Given the description of an element on the screen output the (x, y) to click on. 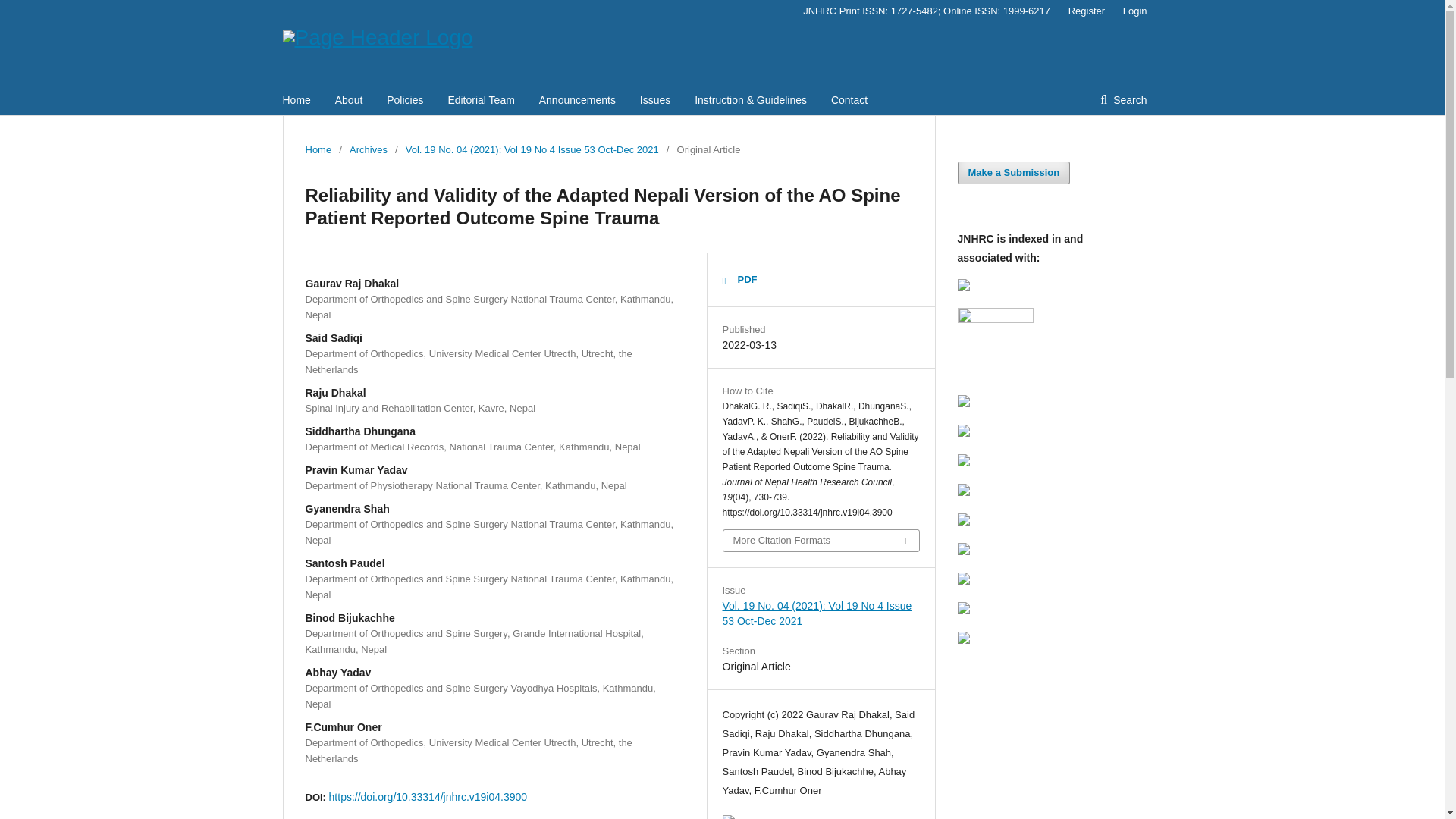
JNHRC Print ISSN: 1727-5482; Online ISSN: 1999-6217 (926, 11)
PDF (739, 279)
Login (1131, 11)
Home (317, 150)
Register (1086, 11)
Home (296, 100)
Archives (368, 150)
Search (1122, 100)
More Citation Formats (820, 540)
Contact (849, 100)
